Given the description of an element on the screen output the (x, y) to click on. 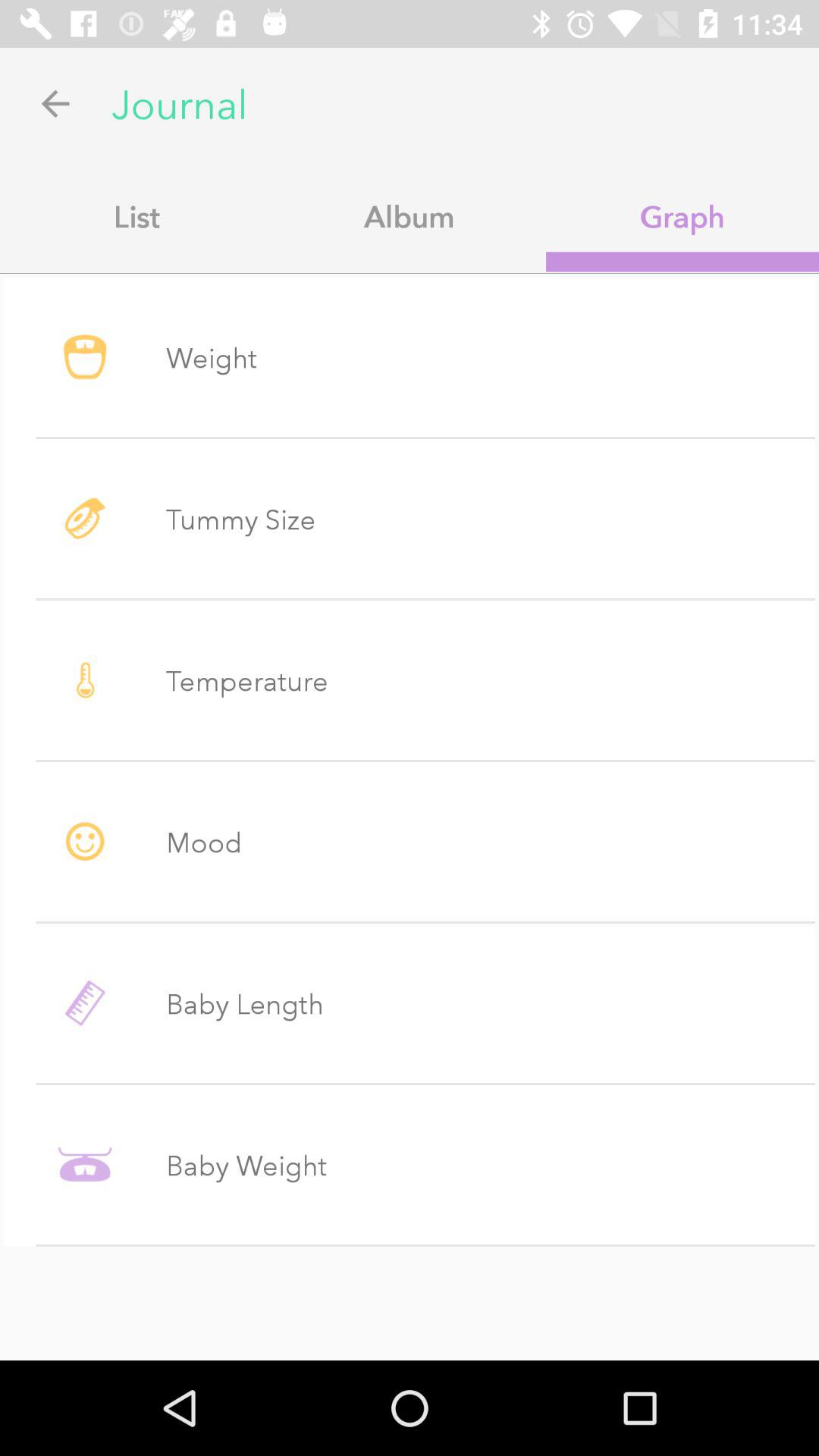
swipe to the list app (136, 216)
